Given the description of an element on the screen output the (x, y) to click on. 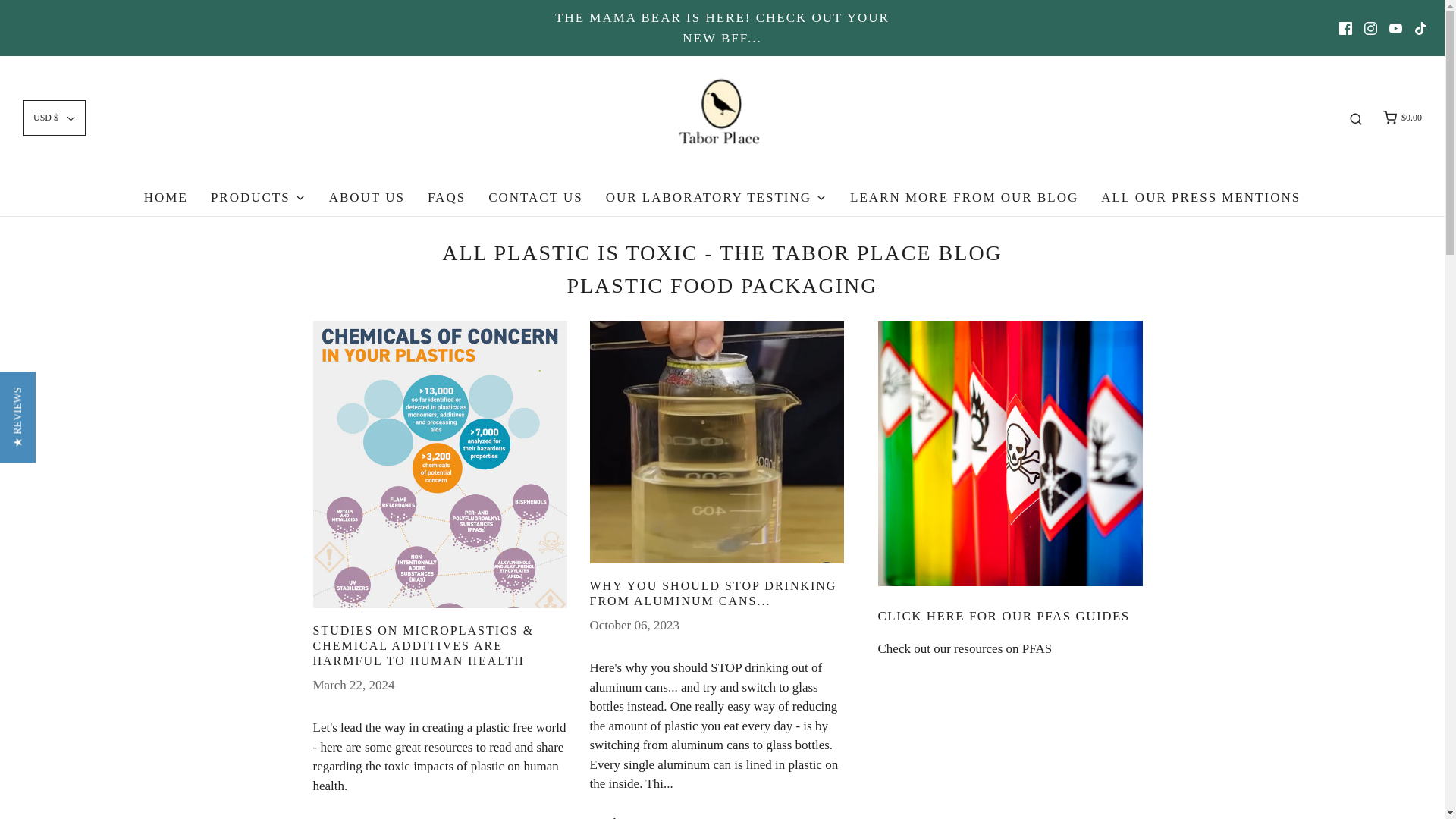
INSTAGRAM ICON (1370, 28)
TIKTOK ICON (1419, 28)
Search (1356, 117)
View Post (716, 442)
YOUTUBE ICON (1395, 28)
FACEBOOK ICON (1345, 28)
INSTAGRAM ICON (1370, 28)
FACEBOOK ICON (1345, 28)
Cart (1401, 117)
YOUTUBE ICON (1395, 28)
TIKTOK ICON (1419, 28)
View Post (439, 464)
THE MAMA BEAR IS HERE! CHECK OUT YOUR NEW BFF... (722, 38)
